Given the description of an element on the screen output the (x, y) to click on. 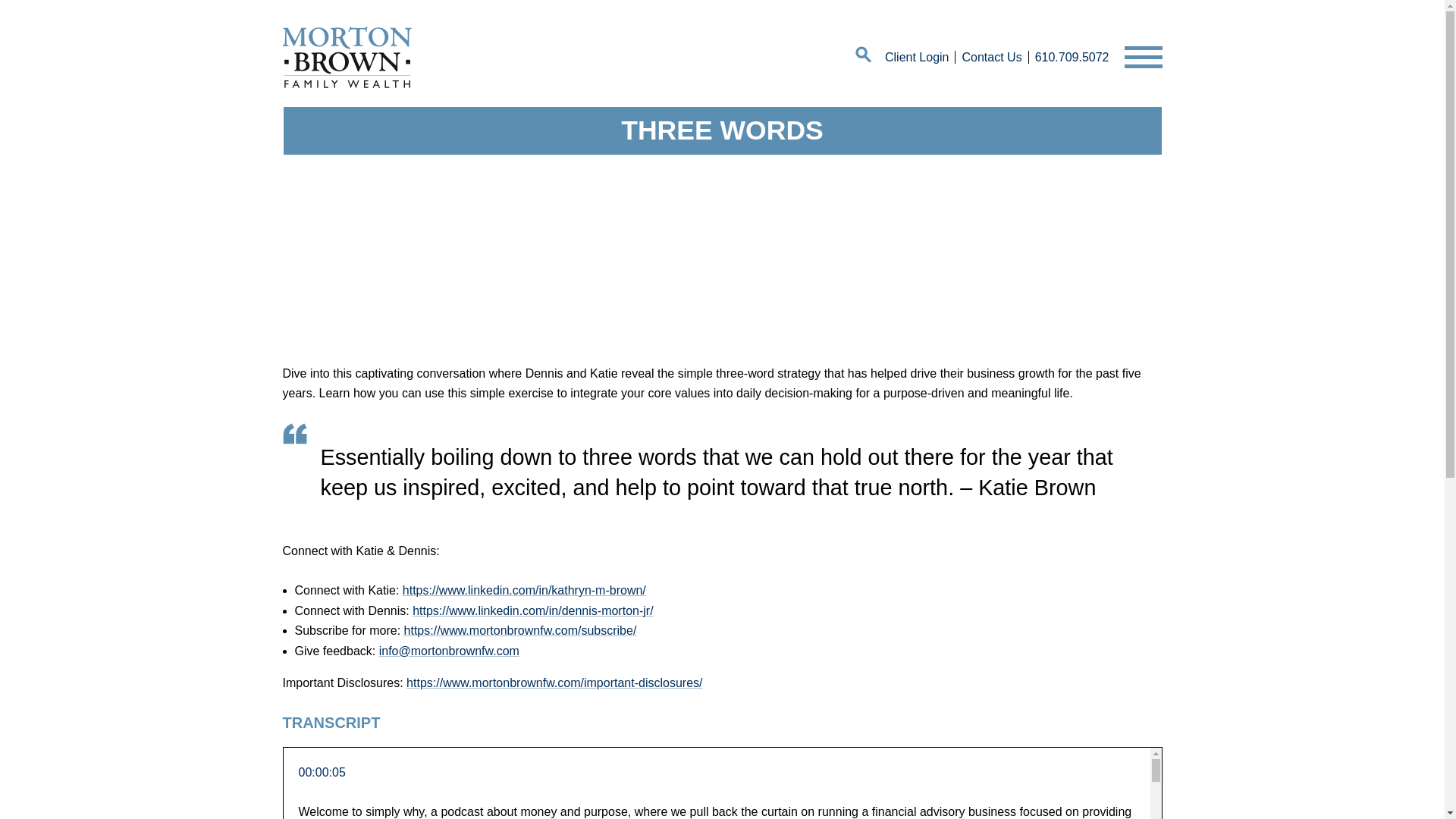
610.709.5072 (1072, 57)
Contact Us (991, 57)
Show Search (863, 57)
Toggle navigation (1142, 56)
Client Login (917, 57)
